Given the description of an element on the screen output the (x, y) to click on. 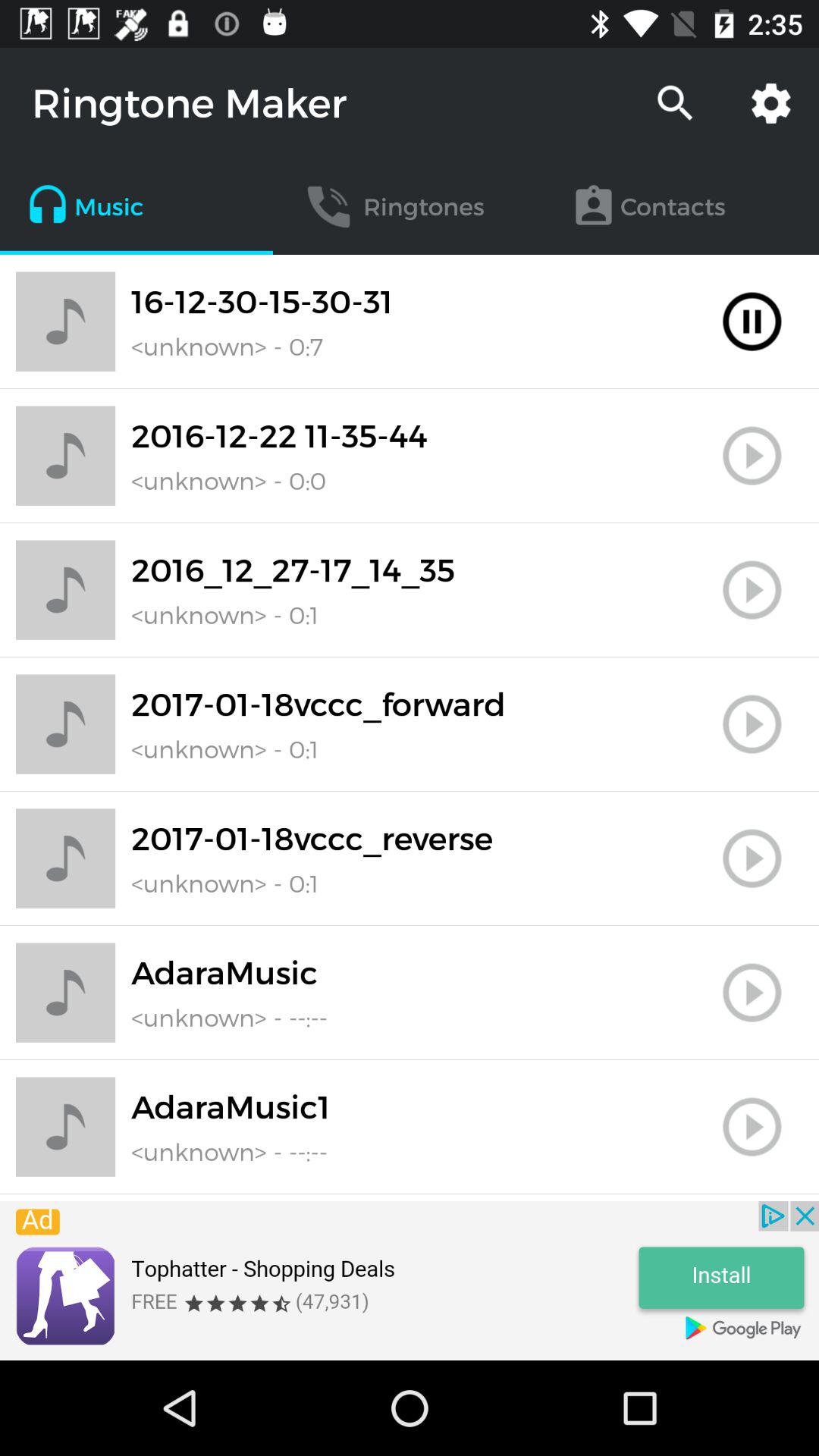
go to music (752, 590)
